Given the description of an element on the screen output the (x, y) to click on. 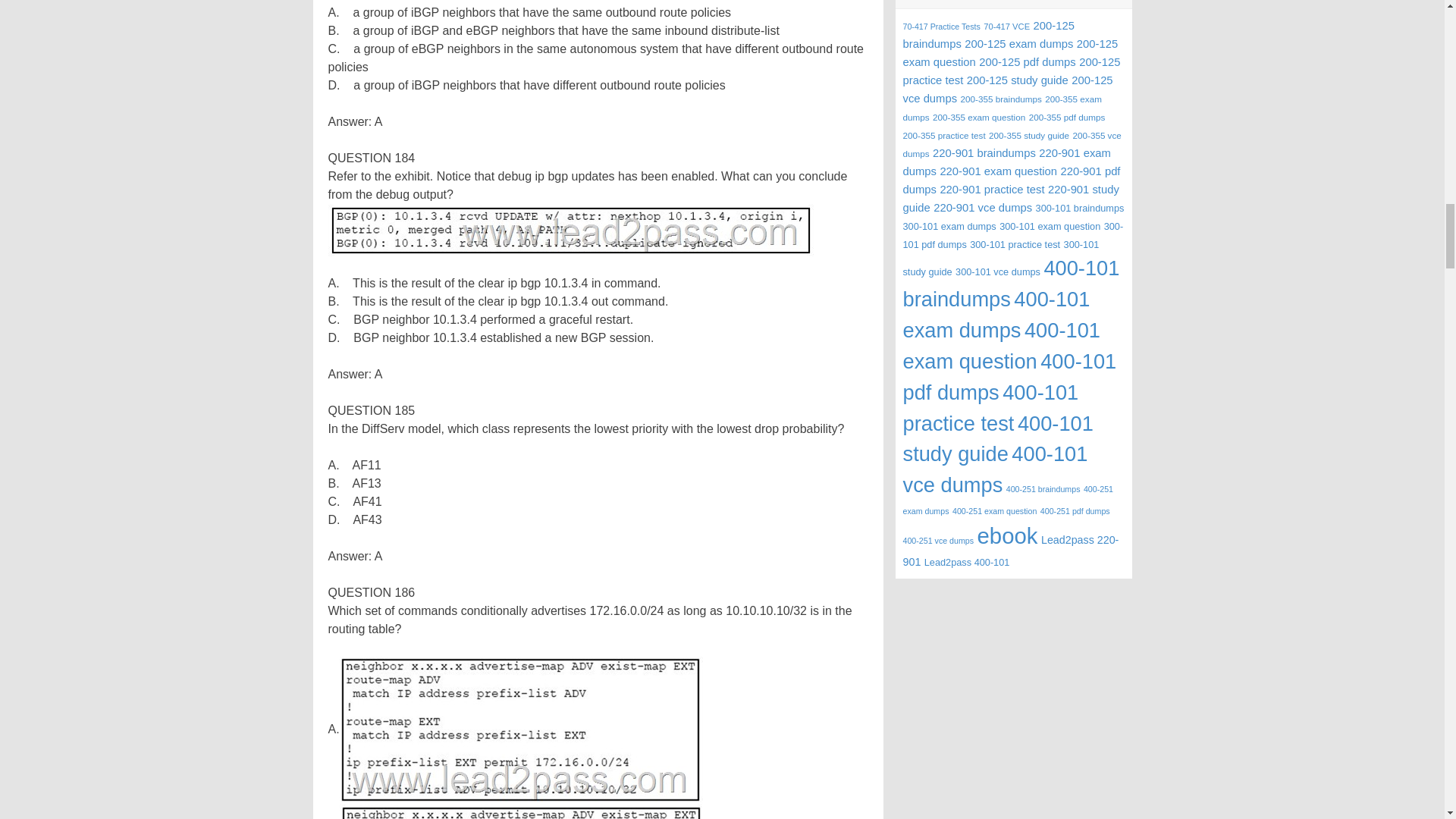
1841 (569, 229)
1861 (521, 729)
1862 (520, 811)
